Given the description of an element on the screen output the (x, y) to click on. 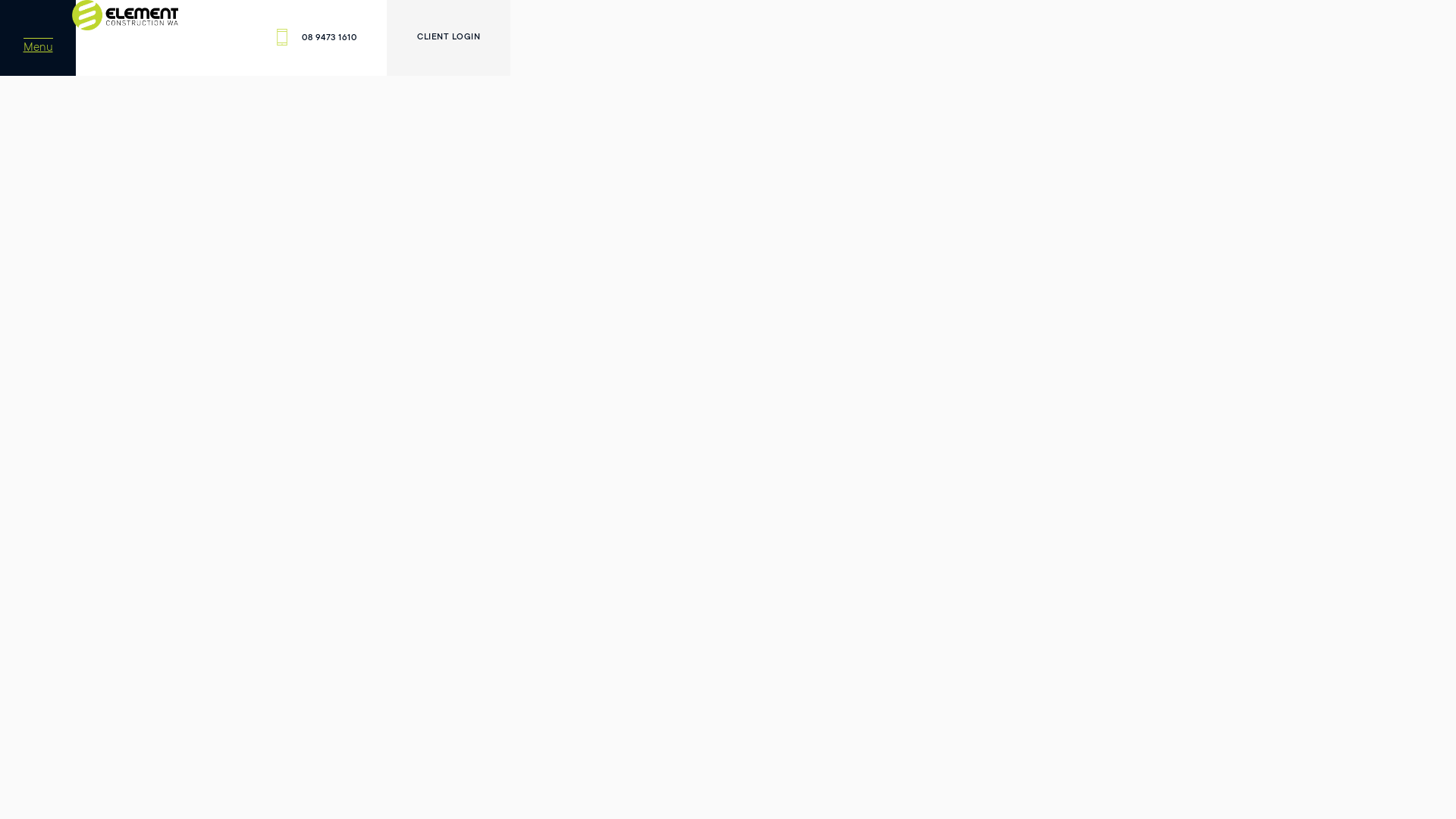
Menu Element type: text (102, 23)
08 9473 1610 Element type: text (316, 37)
Menu Element type: text (37, 37)
CLIENT LOGIN Element type: text (448, 37)
